Given the description of an element on the screen output the (x, y) to click on. 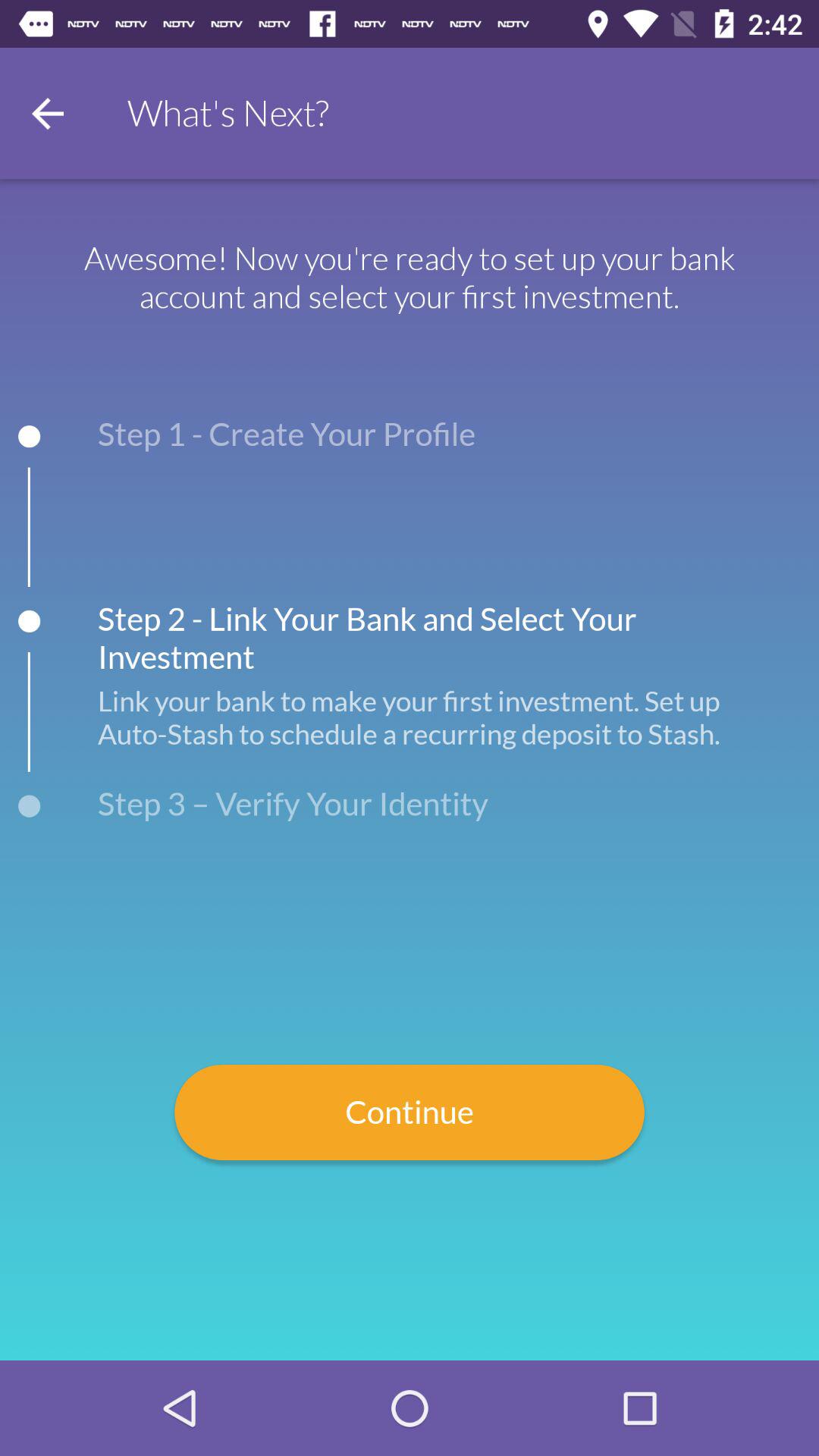
go back button (47, 113)
